Given the description of an element on the screen output the (x, y) to click on. 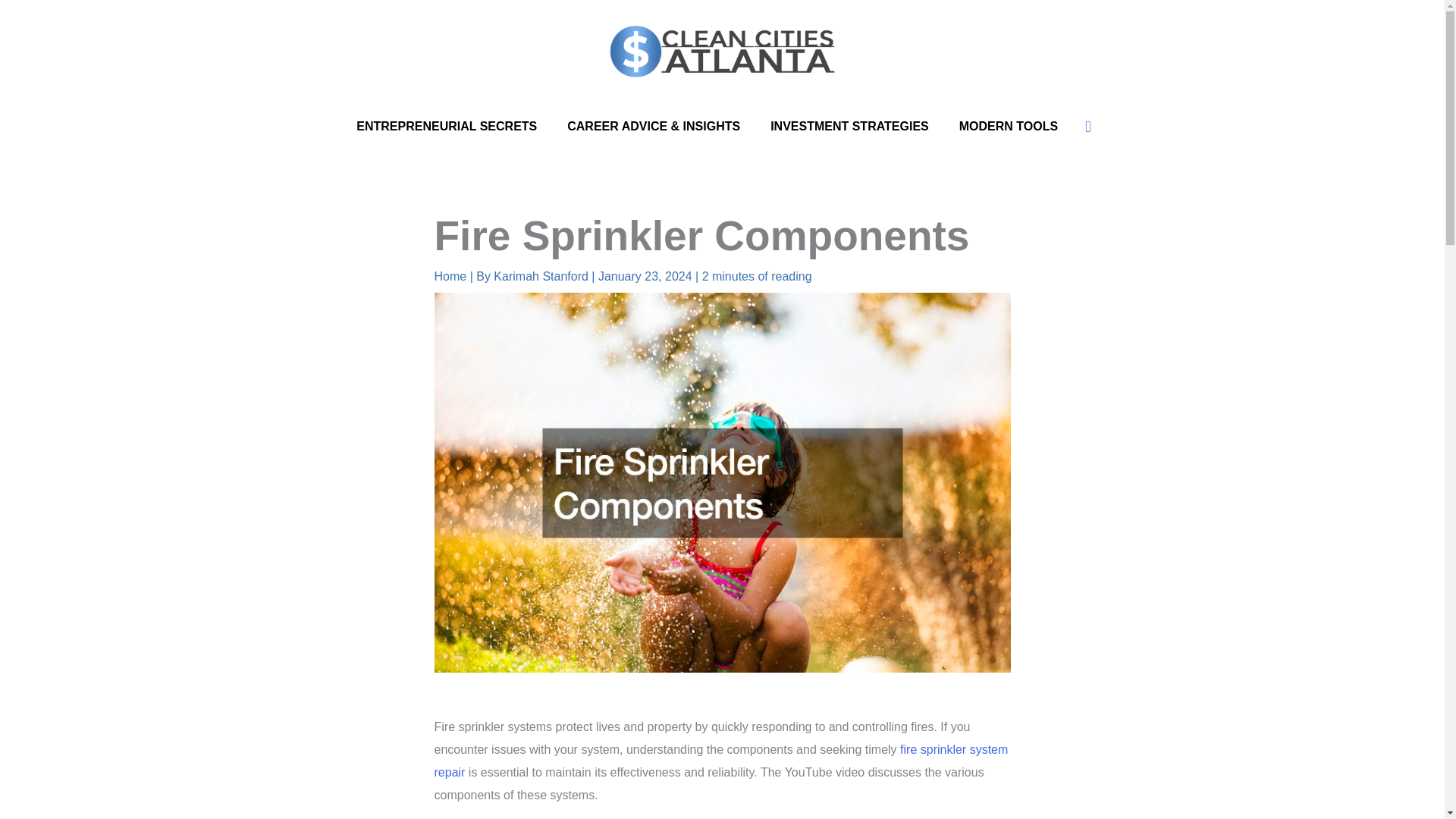
INVESTMENT STRATEGIES (849, 126)
MODERN TOOLS (1008, 126)
Home (449, 276)
ENTREPRENEURIAL SECRETS (445, 126)
fire sprinkler system repair (720, 760)
View all posts by Karimah Stanford (542, 276)
Karimah Stanford (542, 276)
